Given the description of an element on the screen output the (x, y) to click on. 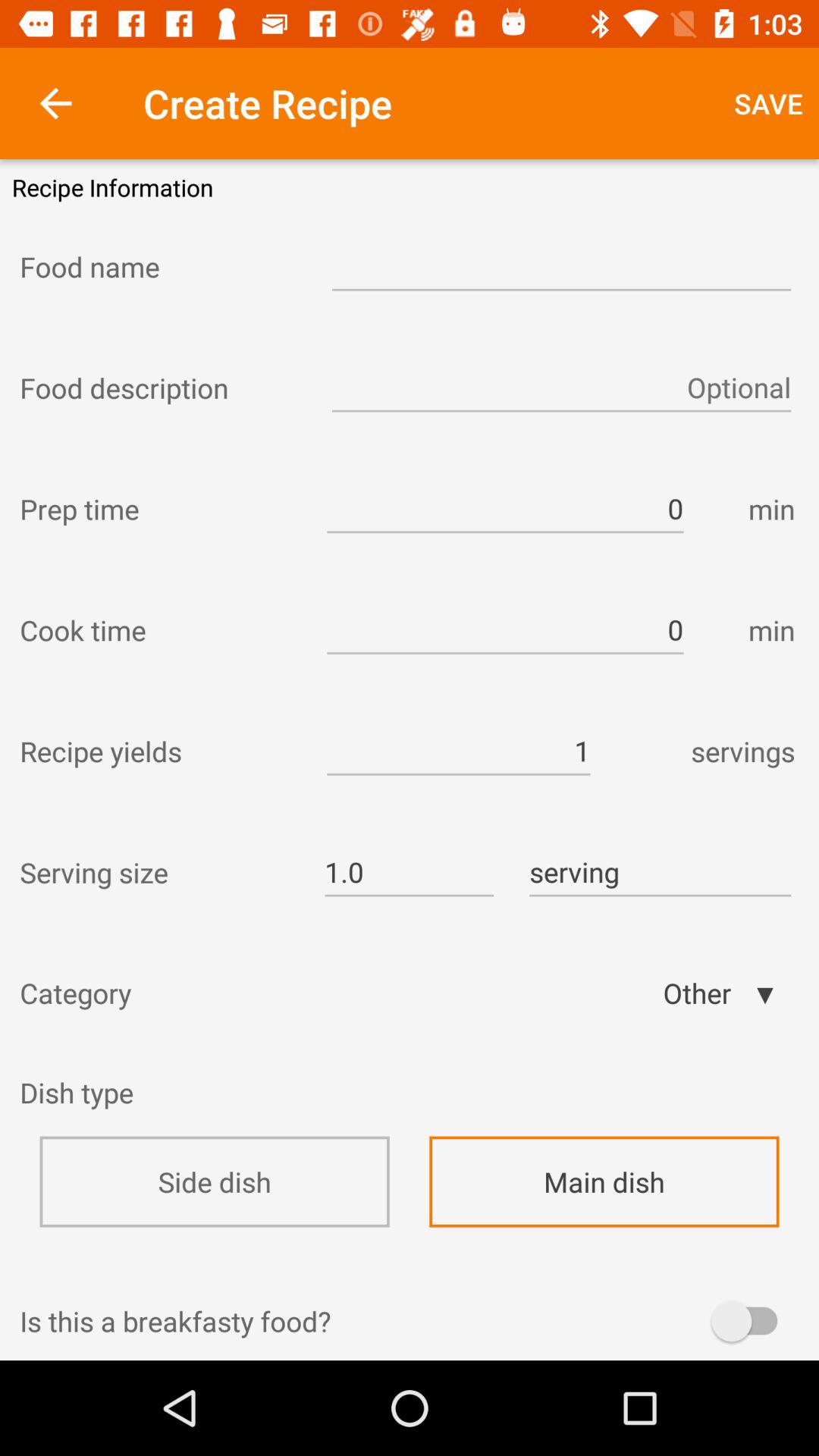
launch icon below side dish icon (409, 1273)
